Given the description of an element on the screen output the (x, y) to click on. 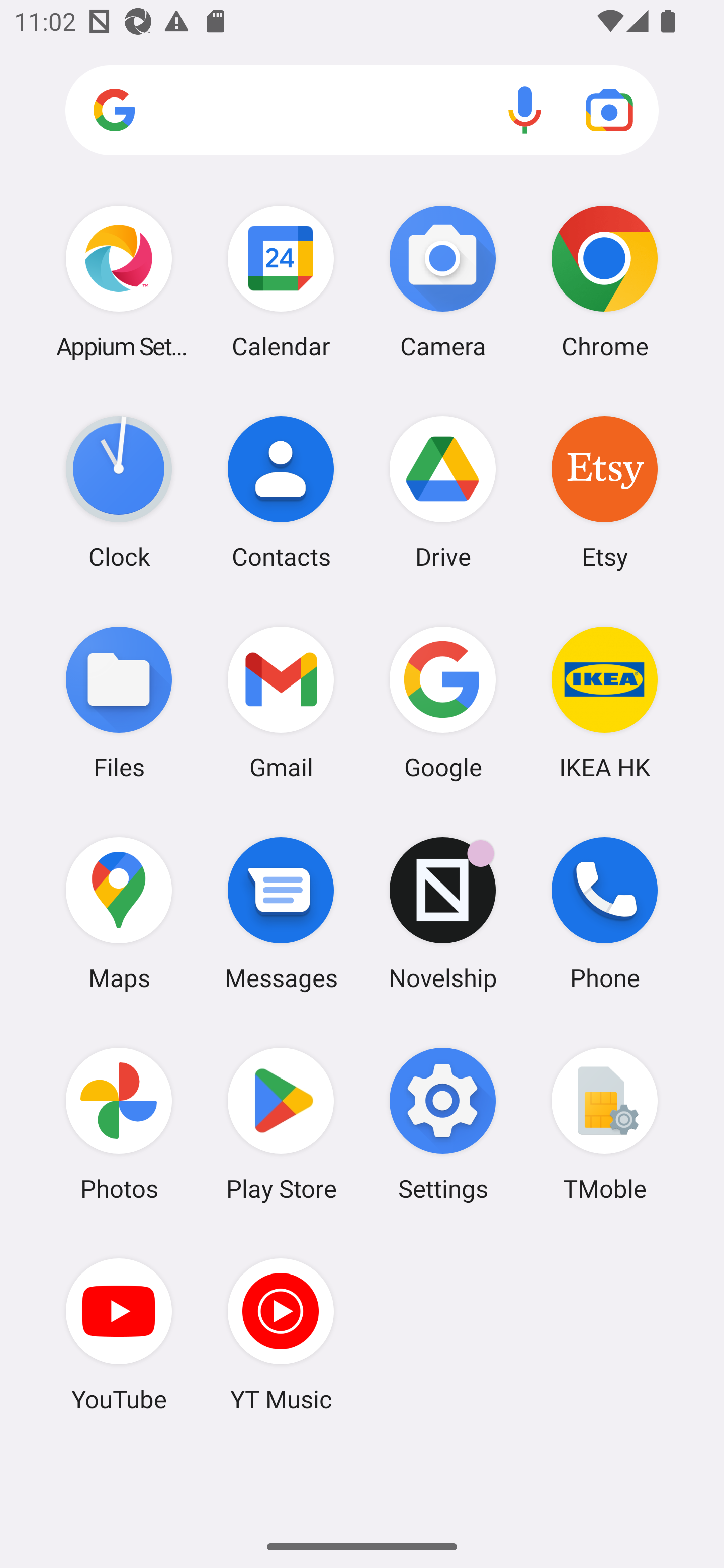
Search apps, web and more (361, 110)
Voice search (524, 109)
Google Lens (608, 109)
Appium Settings (118, 281)
Calendar (280, 281)
Camera (443, 281)
Chrome (604, 281)
Clock (118, 492)
Contacts (280, 492)
Drive (443, 492)
Etsy (604, 492)
Files (118, 702)
Gmail (280, 702)
Google (443, 702)
IKEA HK (604, 702)
Maps (118, 913)
Messages (280, 913)
Novelship Novelship has 1 notification (443, 913)
Phone (604, 913)
Photos (118, 1124)
Play Store (280, 1124)
Settings (443, 1124)
TMoble (604, 1124)
YouTube (118, 1334)
YT Music (280, 1334)
